Given the description of an element on the screen output the (x, y) to click on. 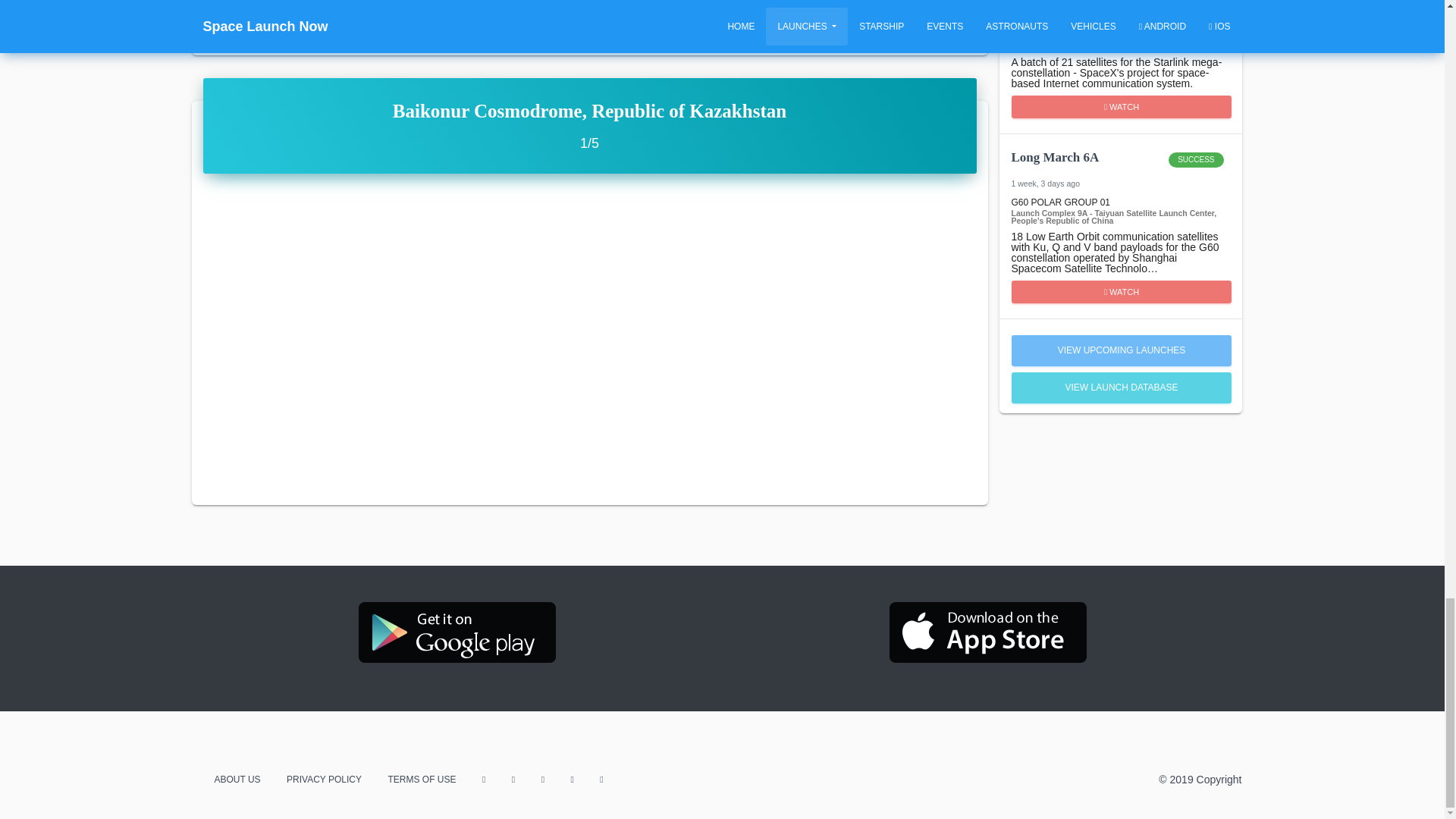
WATCH (1119, 167)
WATCH (1119, 6)
WIKI (1121, 106)
